Given the description of an element on the screen output the (x, y) to click on. 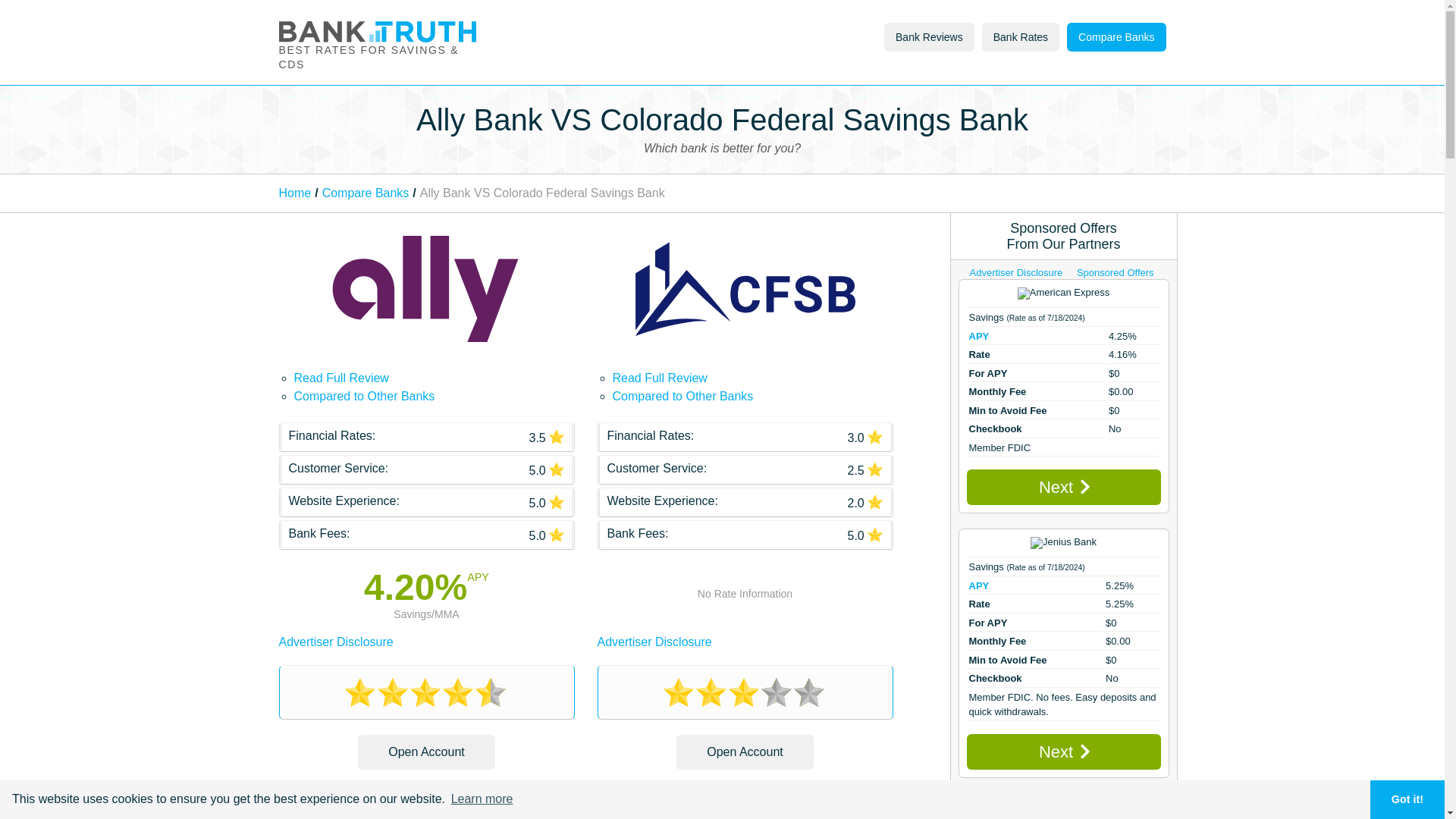
Compared to Other Banks (683, 395)
Compared to Other Banks (364, 395)
American Express (1063, 293)
Forbright Bank (1063, 807)
Open Account (426, 751)
Open Account (745, 751)
Read Full Review (341, 377)
Compare Banks (365, 192)
Read Full Review (659, 377)
Bank Reviews (928, 36)
Compare Banks (1116, 36)
Learn more (481, 798)
Jenius Bank (1063, 542)
Next (1063, 487)
Home (295, 192)
